Given the description of an element on the screen output the (x, y) to click on. 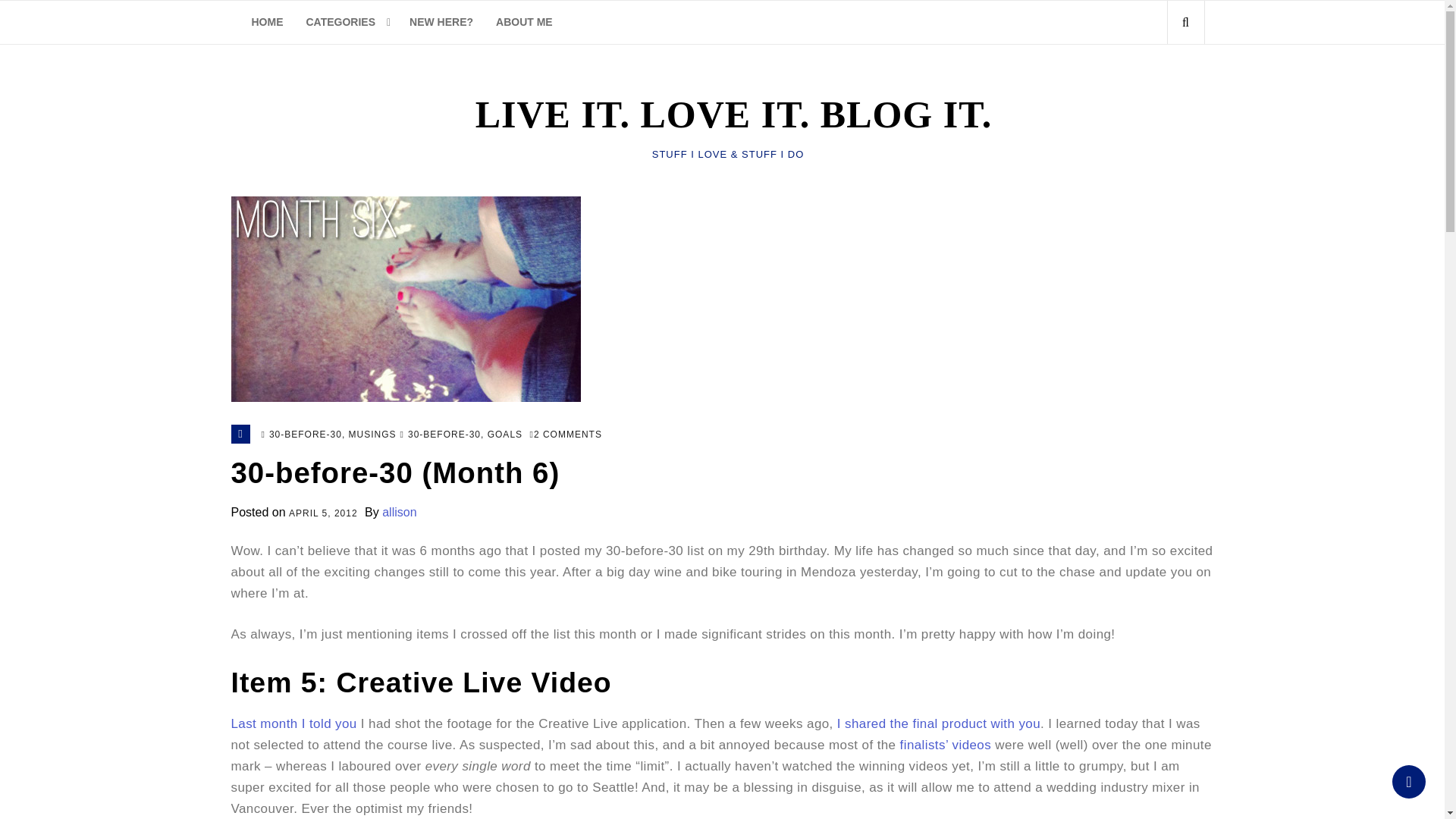
Last month I told you (293, 723)
Search (1158, 89)
CATEGORIES (345, 22)
Go to Top (1408, 781)
2 COMMENTS (565, 435)
GOALS (504, 435)
MUSINGS (372, 435)
APRIL 5, 2012 (323, 514)
HOME (267, 22)
allison (398, 512)
